Given the description of an element on the screen output the (x, y) to click on. 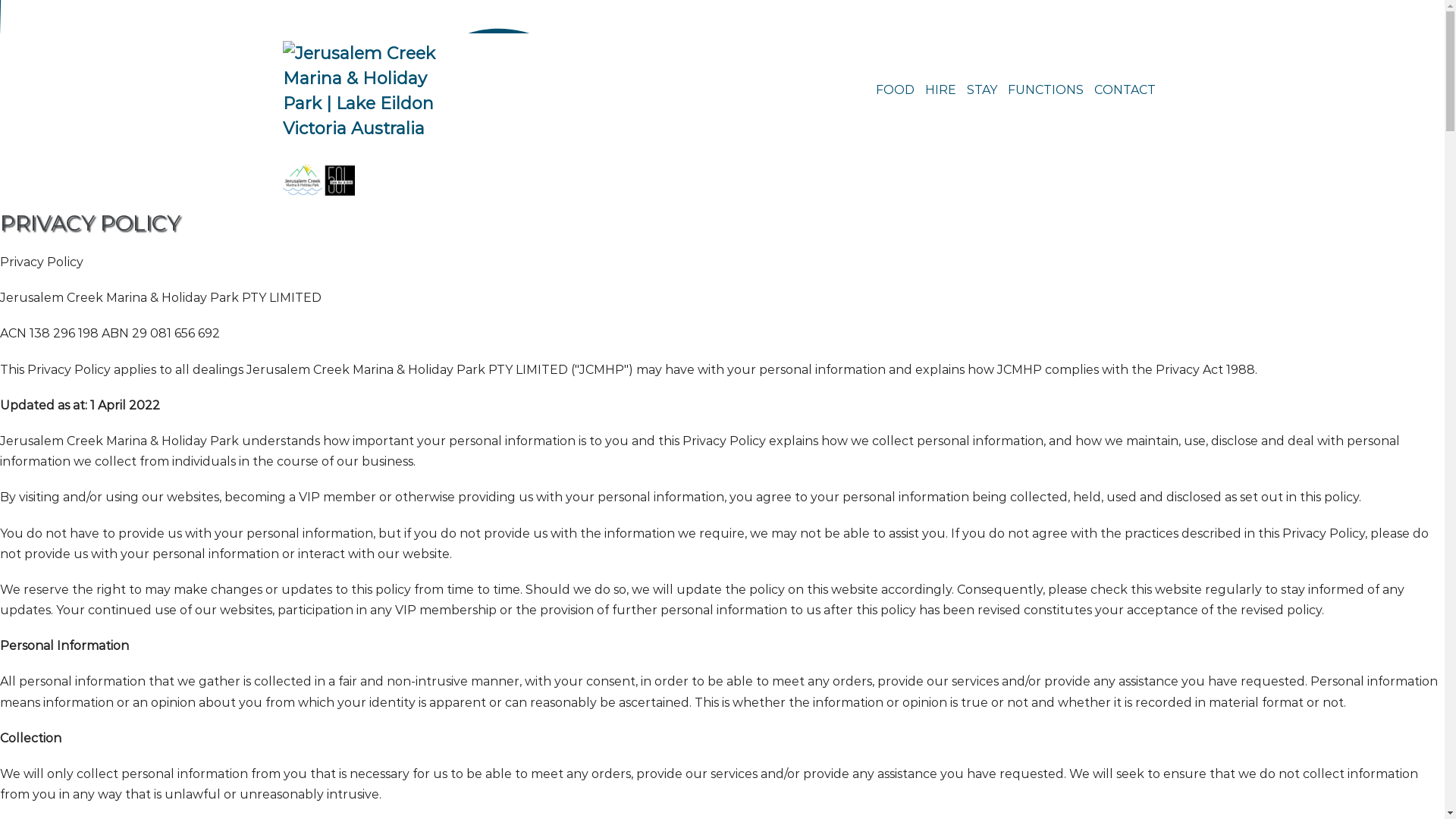
CONTACT Element type: text (1126, 90)
STAY Element type: text (983, 90)
Phone Element type: text (726, 15)
HIRE Element type: text (941, 90)
FOOD Element type: text (896, 90)
FUNCTIONS Element type: text (1047, 90)
Map Element type: text (764, 15)
Email Element type: text (682, 15)
